Given the description of an element on the screen output the (x, y) to click on. 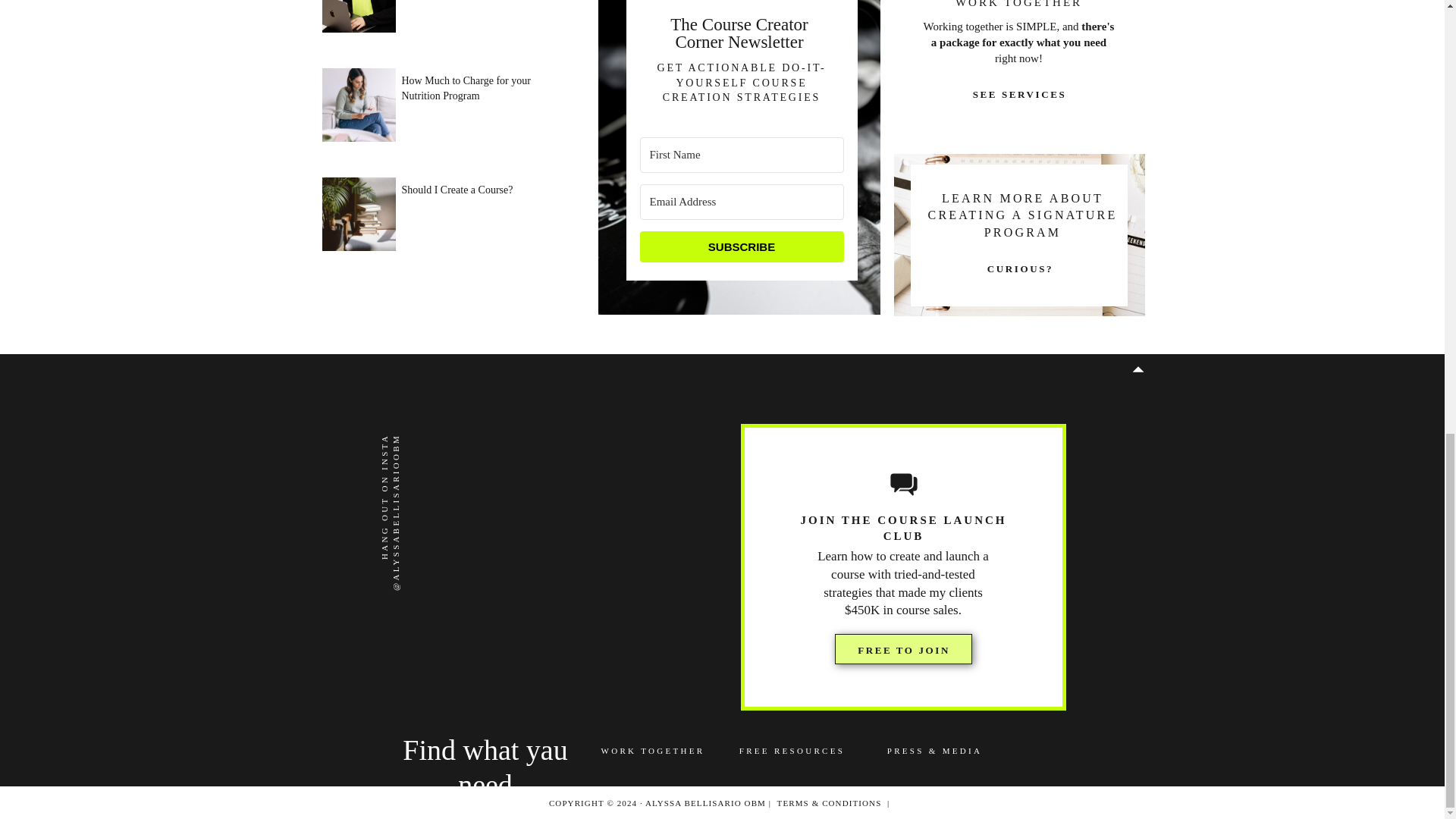
LEARN MORE ABOUT CREATING A SIGNATURE PROGRAM (1022, 216)
CURIOUS? (1019, 271)
SUBSCRIBE (742, 246)
SEE SERVICES (1018, 93)
Should I Create a Course? (481, 213)
BACK TO TOP (1082, 369)
The Move to Thrivecart for Online Courses (481, 13)
How Much to Charge for your Nutrition Program (481, 104)
